Given the description of an element on the screen output the (x, y) to click on. 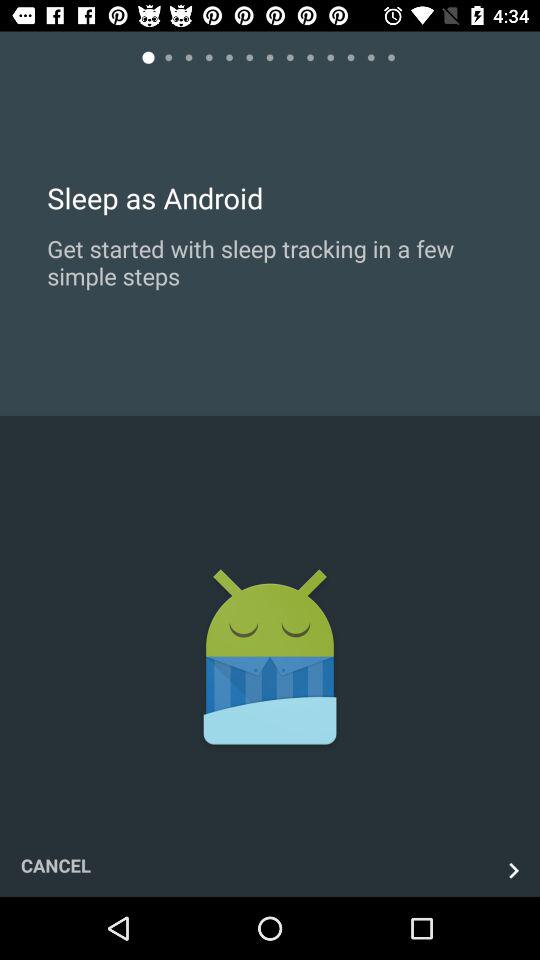
go to the next button (513, 870)
